Given the description of an element on the screen output the (x, y) to click on. 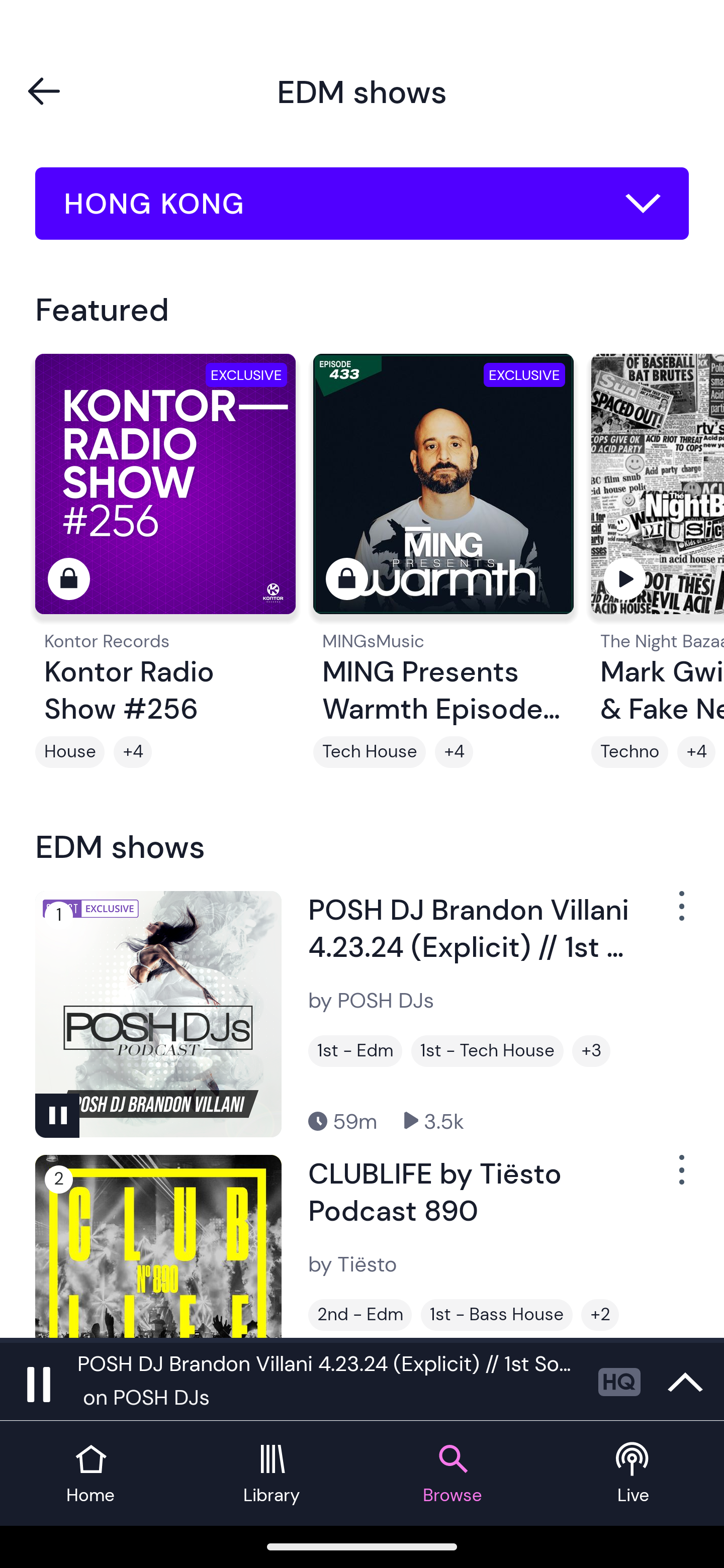
HONG KONG (361, 203)
EXCLUSIVE (165, 492)
EXCLUSIVE (443, 492)
House (69, 752)
Tech House (369, 752)
Techno (629, 752)
Show Options Menu Button (679, 913)
1st - Edm (355, 1050)
1st - Tech House (487, 1050)
Show Options Menu Button (679, 1178)
2nd - Edm (359, 1315)
1st - Bass House (496, 1315)
Home tab Home (90, 1473)
Library tab Library (271, 1473)
Browse tab Browse (452, 1473)
Live tab Live (633, 1473)
